Given the description of an element on the screen output the (x, y) to click on. 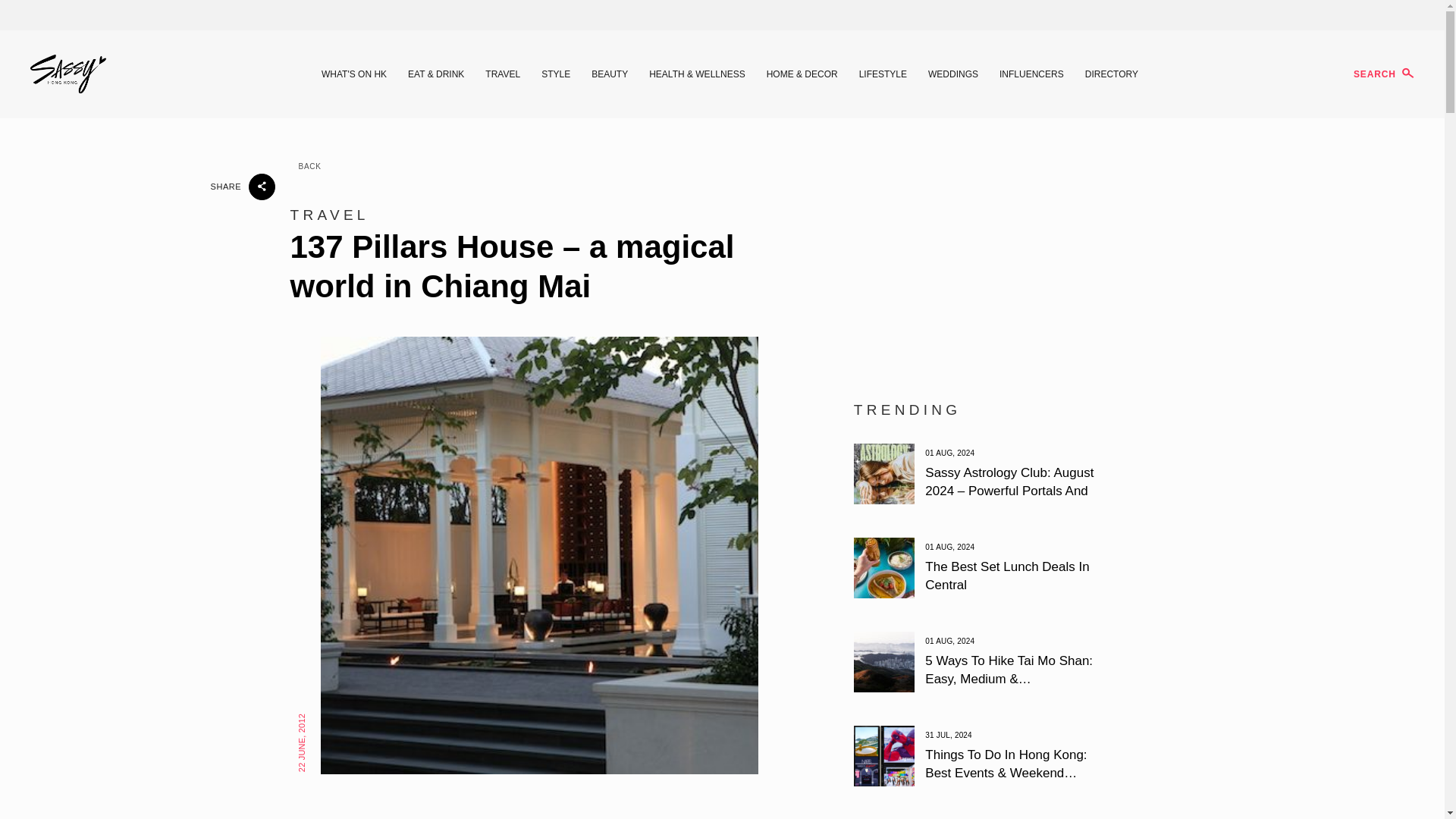
Sassy Hong Kong (68, 74)
TRAVEL (501, 73)
WHAT'S ON HK (354, 73)
